Given the description of an element on the screen output the (x, y) to click on. 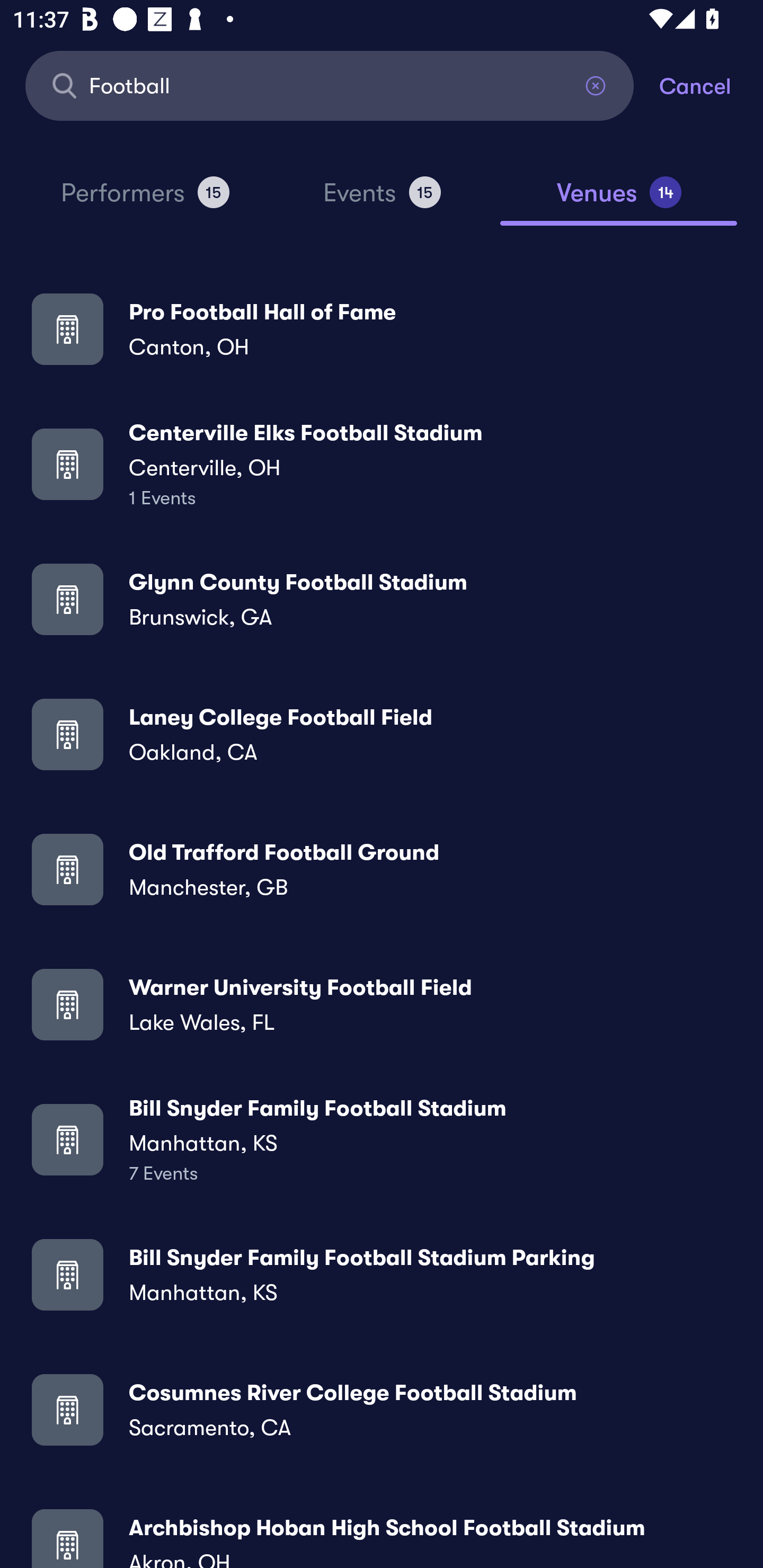
Football Find (329, 85)
Football Find (329, 85)
Cancel (711, 85)
Performers 15 (144, 200)
Events 15 (381, 200)
Venues 14 (618, 200)
Pro Football Hall of Fame Canton, OH (381, 328)
Glynn County Football Stadium Brunswick, GA (381, 598)
Laney College Football Field Oakland, CA (381, 734)
Old Trafford Football Ground Manchester, GB (381, 869)
Warner University Football Field Lake Wales, FL (381, 1004)
